Given the description of an element on the screen output the (x, y) to click on. 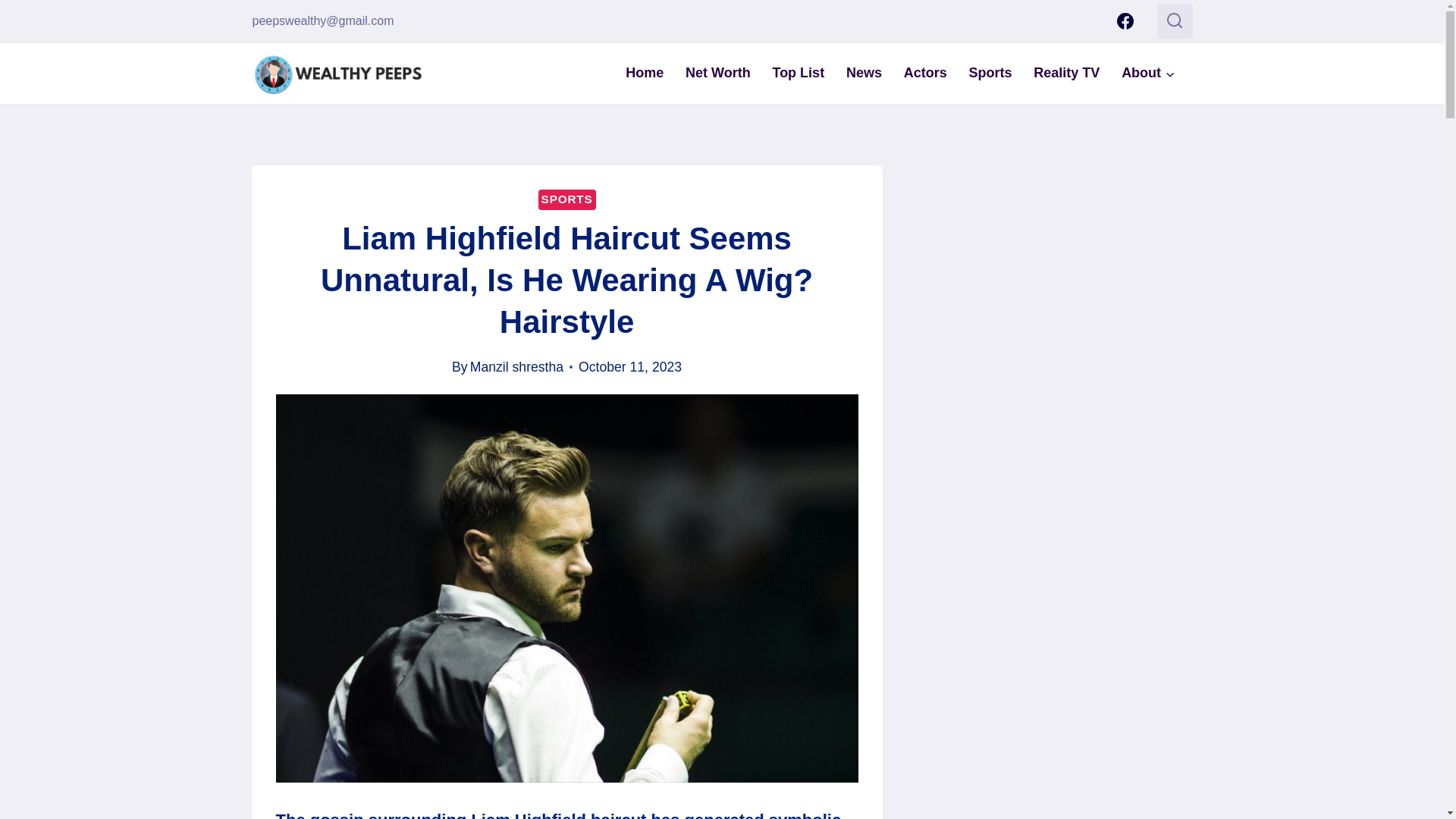
Sports (990, 72)
Reality TV (1066, 72)
SPORTS (566, 199)
Top List (797, 72)
Manzil shrestha (516, 366)
About (1148, 72)
Net Worth (718, 72)
Actors (925, 72)
News (864, 72)
Home (644, 72)
